Given the description of an element on the screen output the (x, y) to click on. 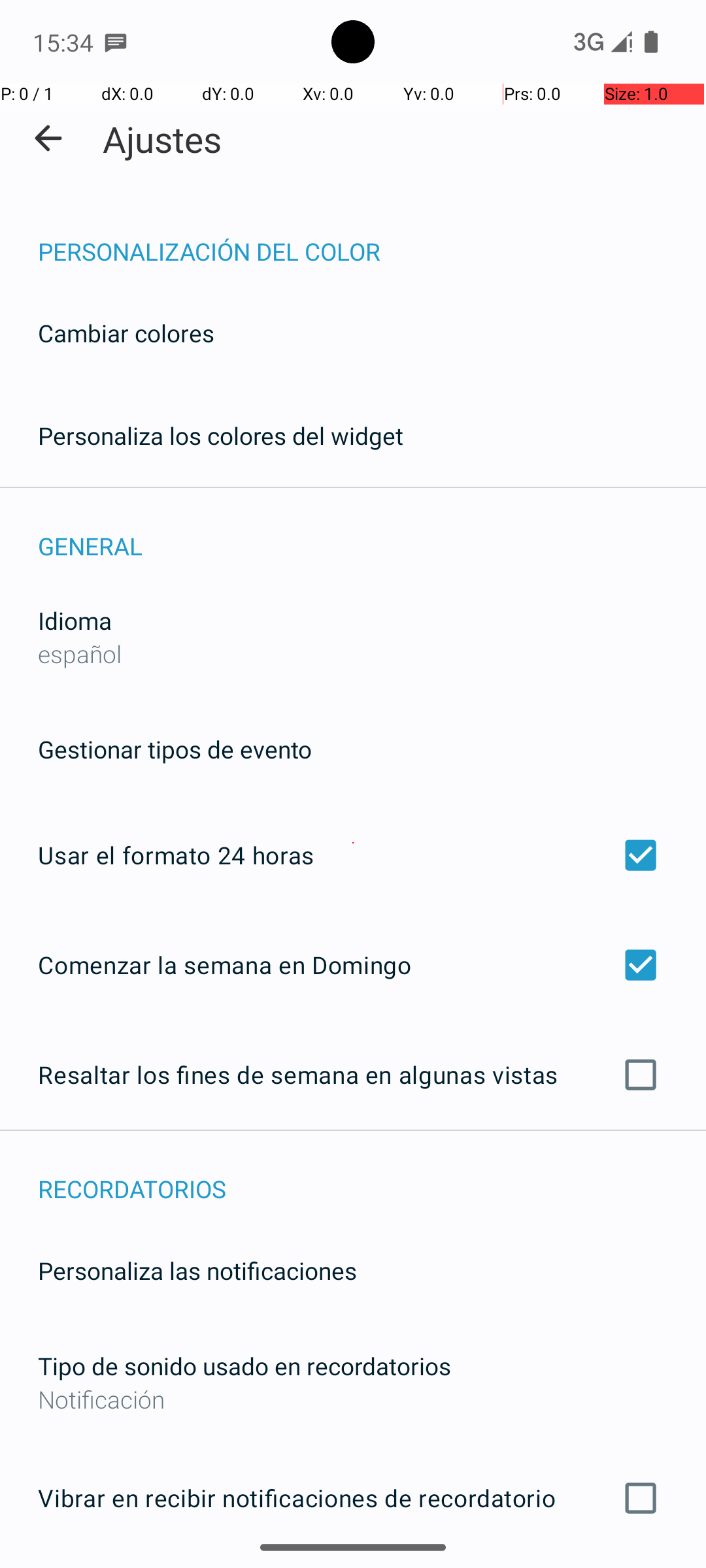
PERSONALIZACIÓN DEL COLOR Element type: android.widget.TextView (371, 237)
RECORDATORIOS Element type: android.widget.TextView (371, 1174)
Personaliza los colores del widget Element type: android.widget.TextView (220, 435)
Idioma Element type: android.widget.TextView (74, 620)
español Element type: android.widget.TextView (79, 653)
Usar el formato 24 horas Element type: android.widget.CheckBox (352, 855)
Comenzar la semana en Domingo Element type: android.widget.CheckBox (352, 964)
Resaltar los fines de semana en algunas vistas Element type: android.widget.CheckBox (352, 1074)
Personaliza las notificaciones Element type: android.widget.TextView (196, 1270)
Tipo de sonido usado en recordatorios Element type: android.widget.TextView (244, 1365)
Vibrar en recibir notificaciones de recordatorio Element type: android.widget.CheckBox (352, 1497)
Repetir recordatorios hasta ser descartados Element type: android.widget.CheckBox (352, 1567)
